Given the description of an element on the screen output the (x, y) to click on. 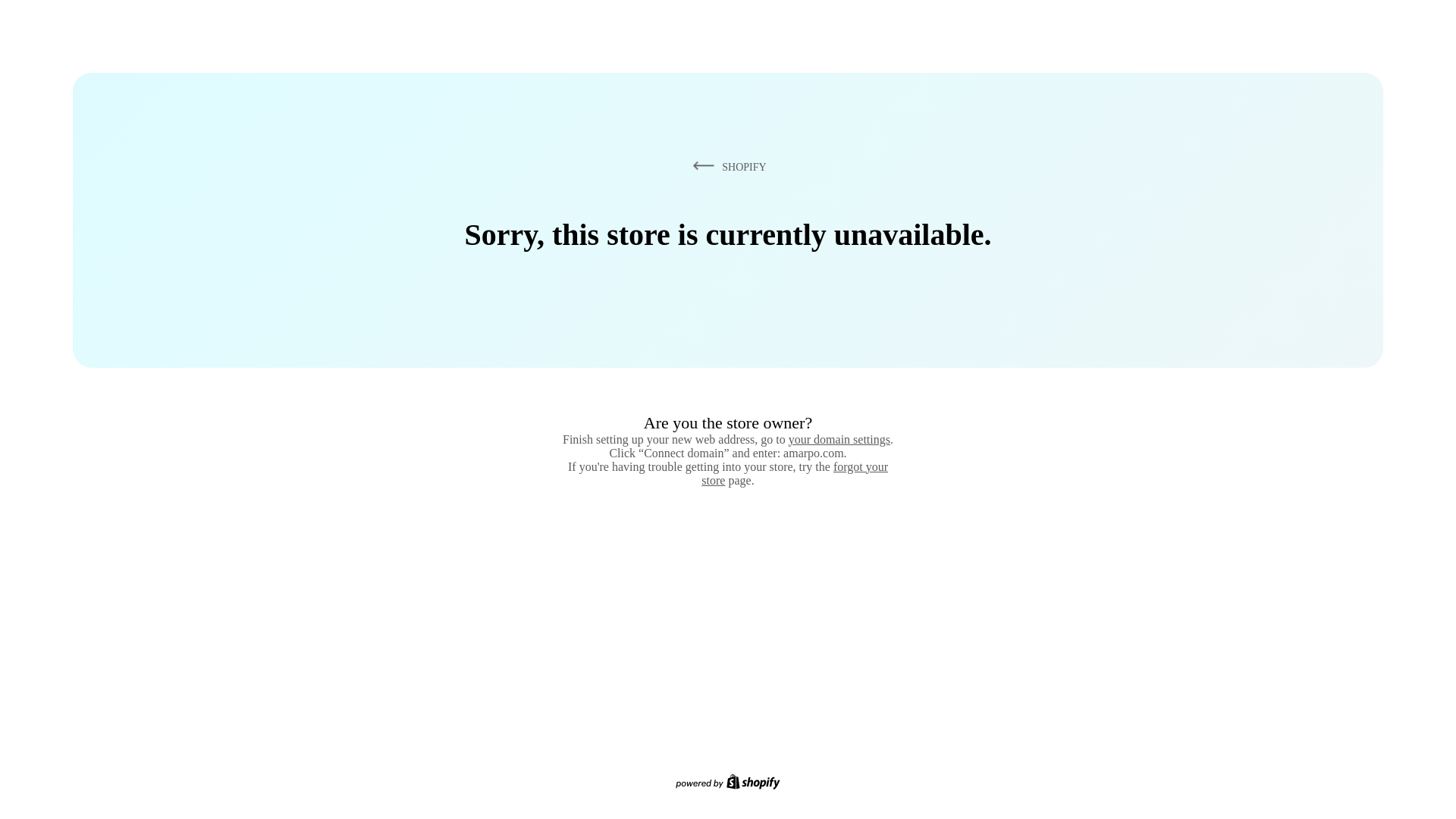
SHOPIFY (726, 166)
your domain settings (839, 439)
forgot your store (794, 473)
